Given the description of an element on the screen output the (x, y) to click on. 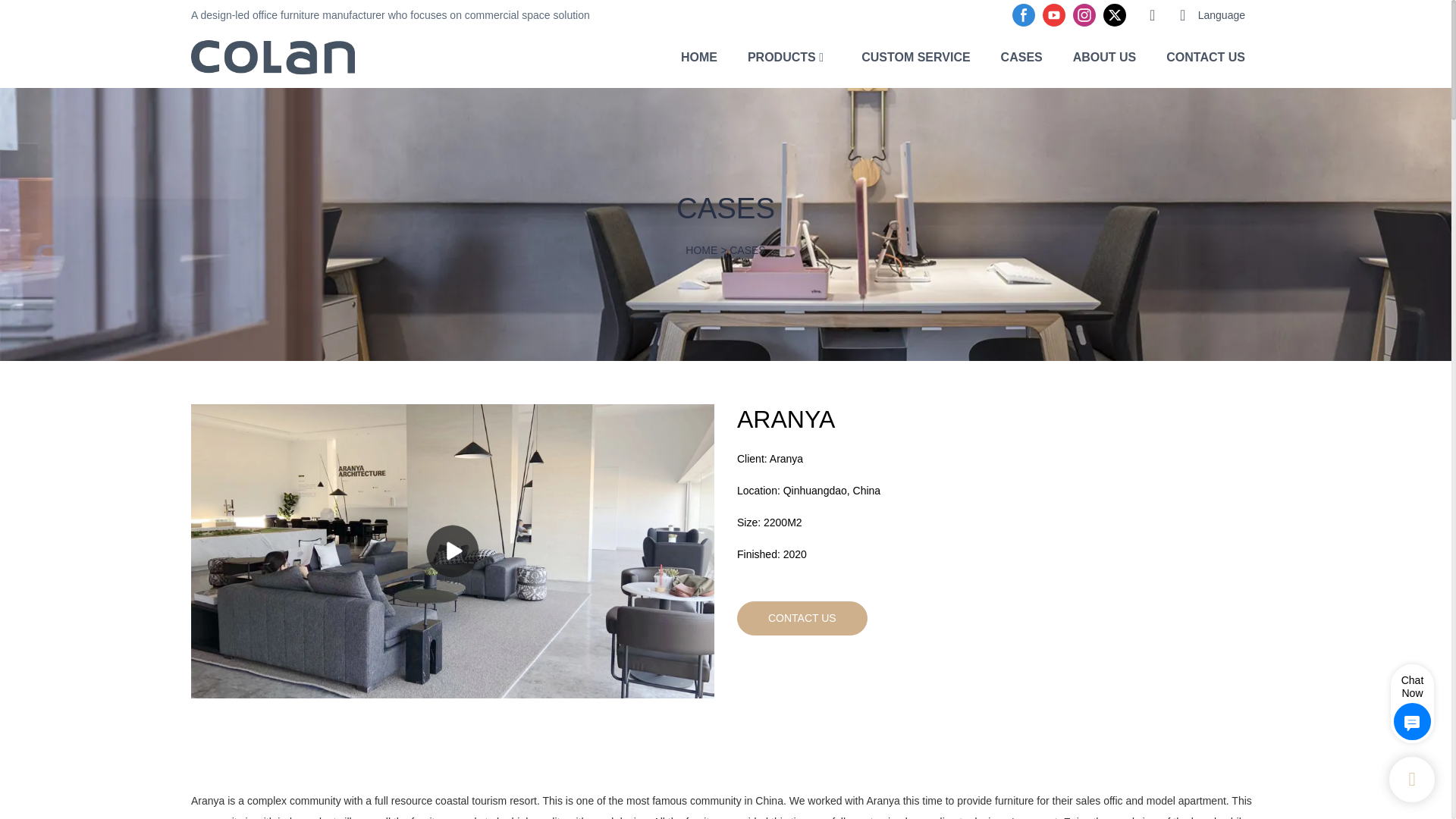
facebook (1024, 15)
CASES (1021, 56)
CASES (747, 250)
HOME (701, 250)
instagram (1083, 15)
CUSTOM SERVICE (915, 56)
youtube (1053, 15)
twitter (1114, 15)
CONTACT US (1205, 56)
ABOUT US (1105, 56)
PRODUCTS (781, 56)
CONTACT US (801, 617)
HOME (699, 56)
